Given the description of an element on the screen output the (x, y) to click on. 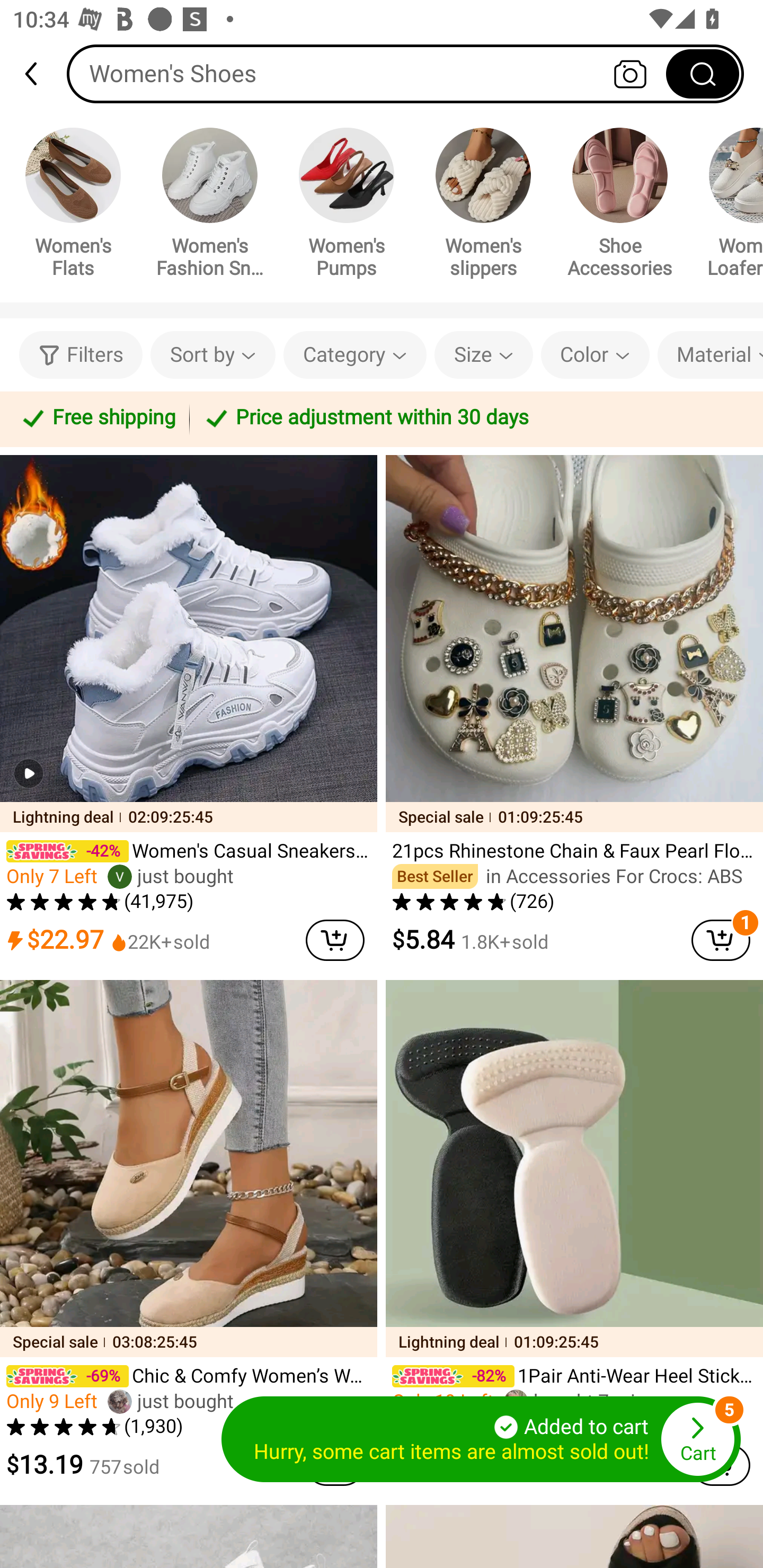
back (39, 73)
Women's Shoes (405, 73)
Women's Flats (73, 205)
Women's Fashion Sneakers (209, 205)
Women's Pumps (346, 205)
Women's slippers (483, 205)
Shoe Accessories (619, 205)
Filters (80, 354)
Sort by (212, 354)
Category (354, 354)
Size (483, 354)
Color (594, 354)
Free shipping (97, 418)
Price adjustment within 30 days (472, 418)
cart delete (334, 939)
cart delete (720, 939)
